Given the description of an element on the screen output the (x, y) to click on. 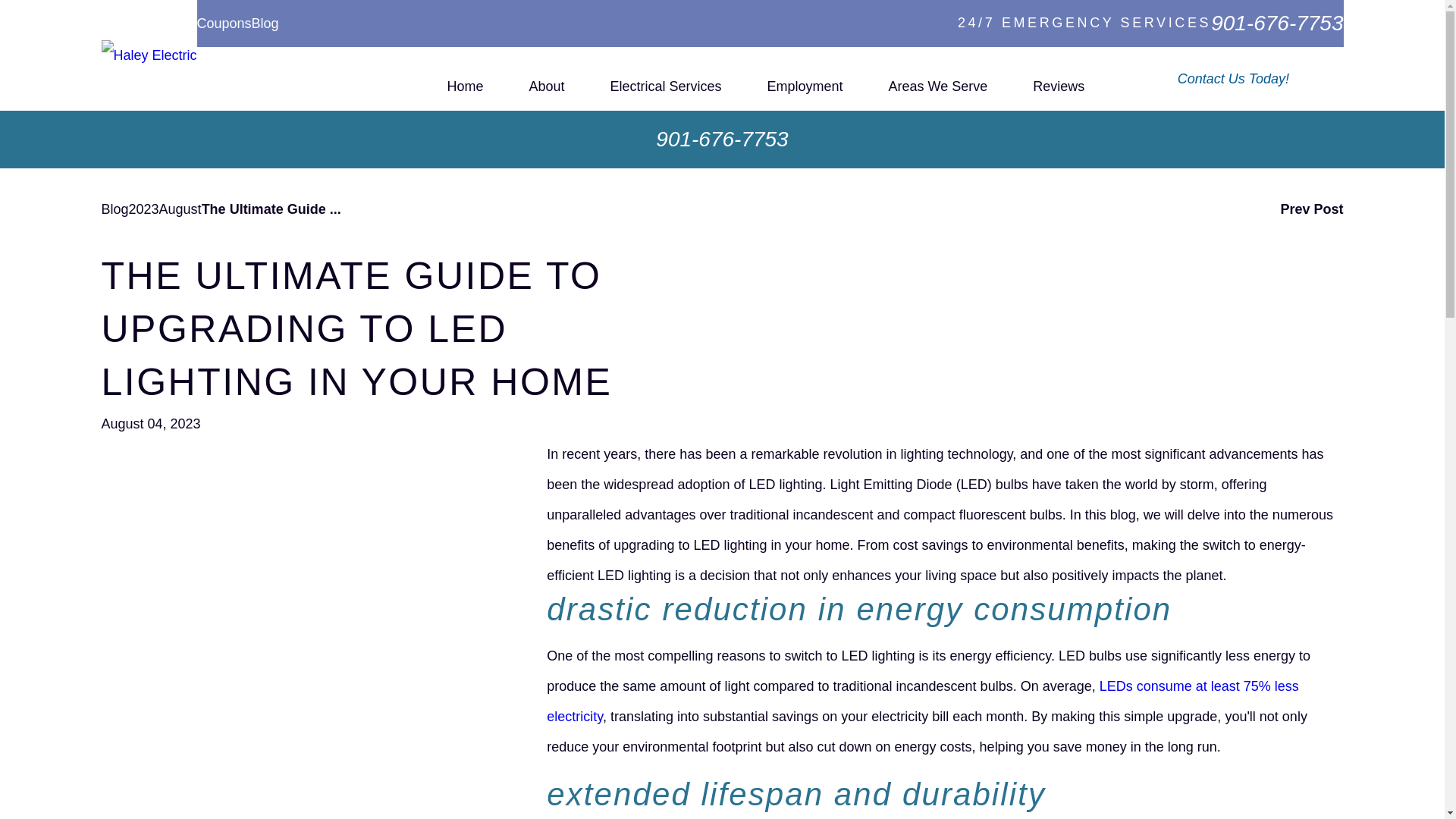
Coupons (223, 23)
Home (464, 78)
Electrical Services (666, 78)
Blog (115, 209)
Haley Electric (148, 55)
2023 (143, 209)
Contact Us Today! (1248, 78)
About (546, 78)
Blog (265, 23)
Reviews (1058, 78)
Open the accessibility options menu (20, 798)
August (180, 209)
Areas We Serve (938, 78)
Prev Post (1310, 209)
Employment (805, 78)
